Given the description of an element on the screen output the (x, y) to click on. 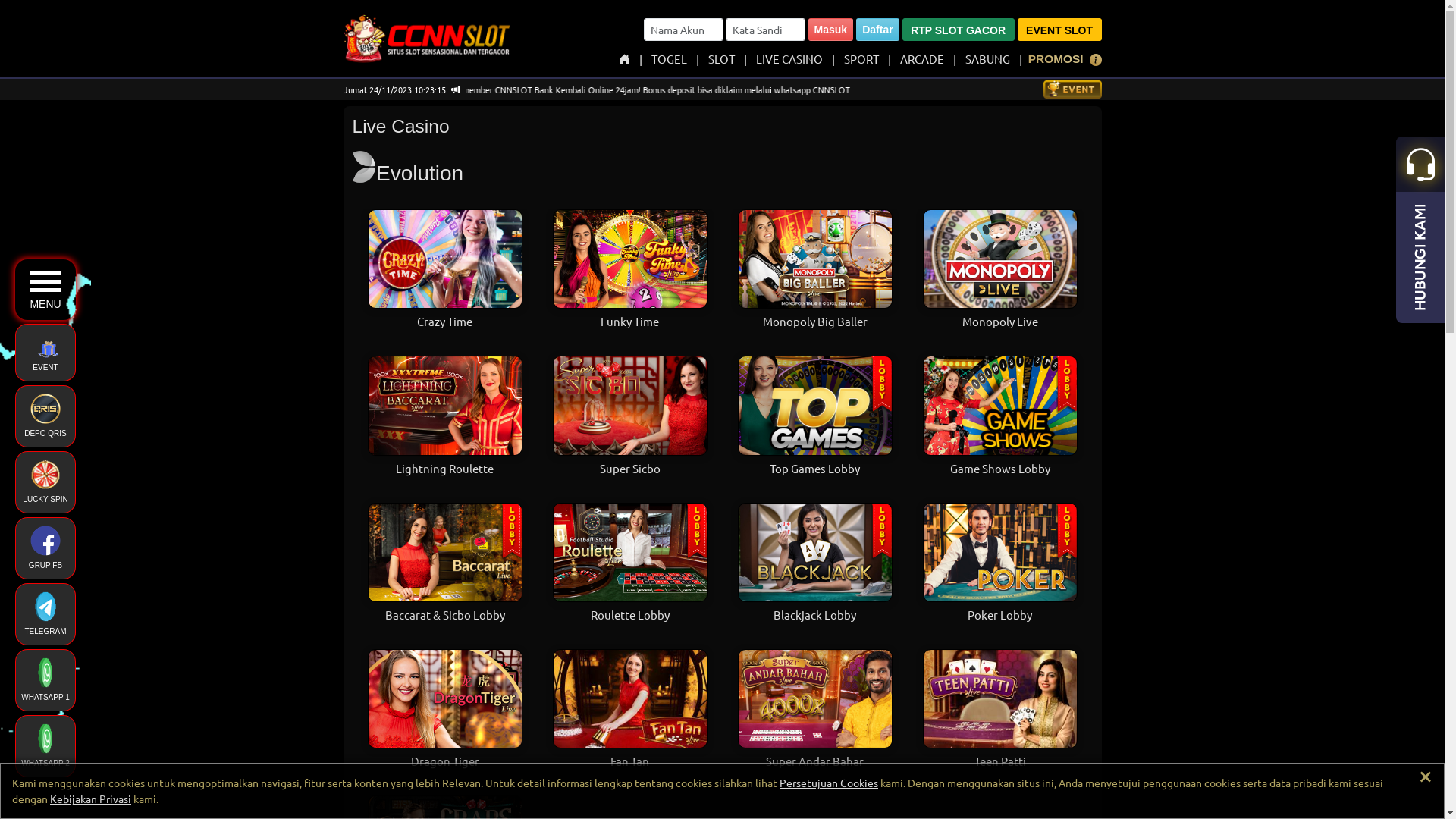
RTP SLOT GACOR Element type: text (958, 29)
Persetujuan Cookies Element type: text (828, 782)
SLOT Element type: text (721, 58)
Kebijakan Privasi Element type: text (90, 798)
PROMOSI Element type: text (1055, 58)
ARCADE Element type: text (922, 58)
Informasi Element type: hover (1094, 60)
SABUNG Element type: text (987, 58)
TOGEL Element type: text (669, 58)
SPORT Element type: text (861, 58)
LIVE CASINO Element type: text (789, 58)
Daftar Element type: text (877, 29)
Masuk Element type: text (830, 29)
EVENT SLOT Element type: text (1059, 29)
